Given the description of an element on the screen output the (x, y) to click on. 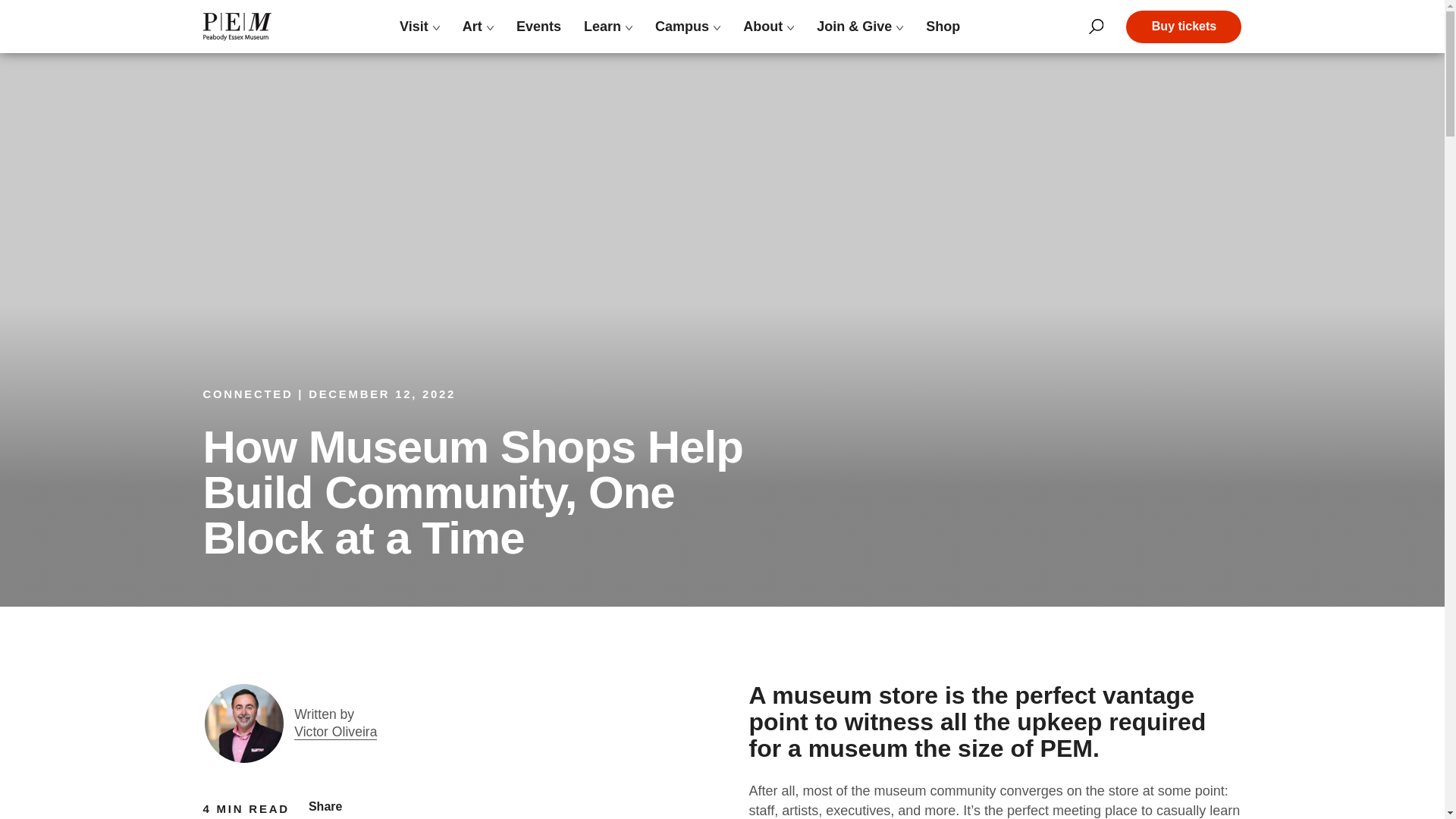
Events (538, 26)
